Given the description of an element on the screen output the (x, y) to click on. 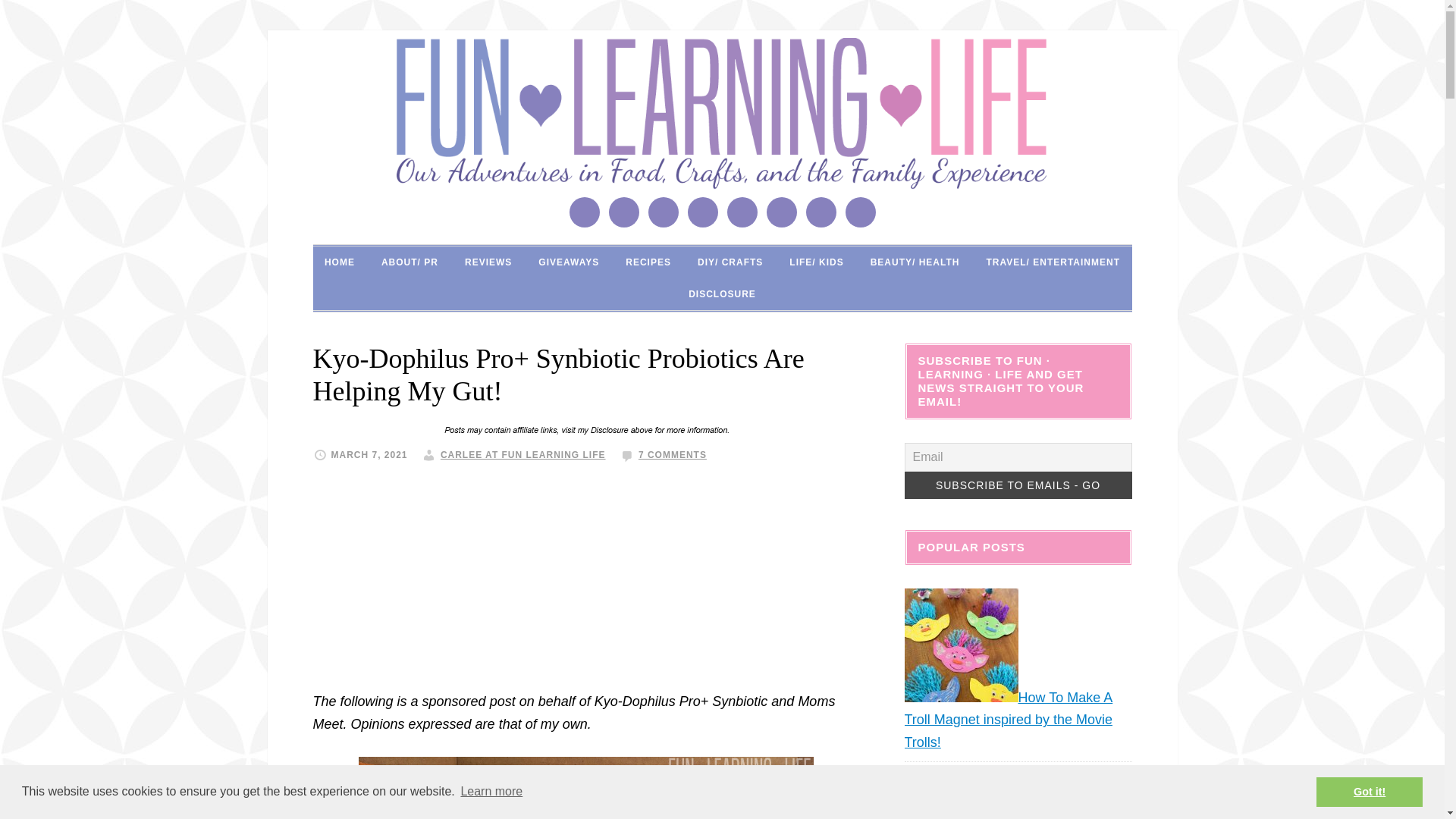
Reviews (487, 262)
Got it! (1369, 791)
FUN LEARNING LIFE (722, 113)
REVIEWS (487, 262)
YouTube (859, 212)
Email (583, 212)
GIVEAWAYS (568, 262)
RECIPES (648, 262)
Learn more (491, 791)
Fun Learning Life (722, 113)
Twitter (820, 212)
Facebook (623, 212)
Pinterest (702, 212)
Instagram (662, 212)
RSS (741, 212)
